Given the description of an element on the screen output the (x, y) to click on. 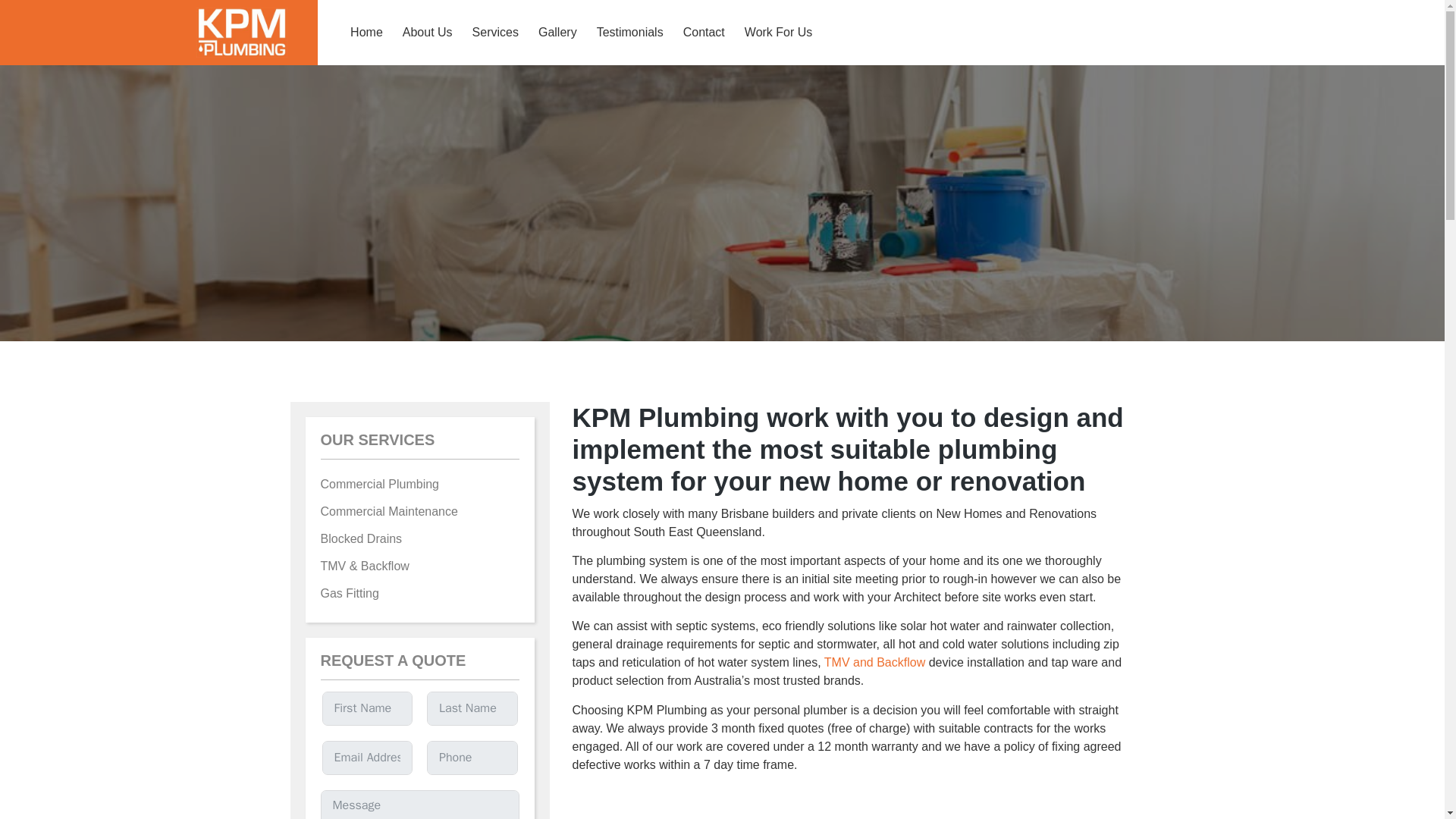
Gallery (557, 32)
About Us (428, 32)
Services (495, 32)
Gas Fitting (419, 593)
Work For Us (778, 32)
Testimonials (629, 32)
Commercial Plumbing (419, 483)
Commercial Maintenance (419, 511)
Blocked Drains (419, 538)
Home (366, 32)
